Given the description of an element on the screen output the (x, y) to click on. 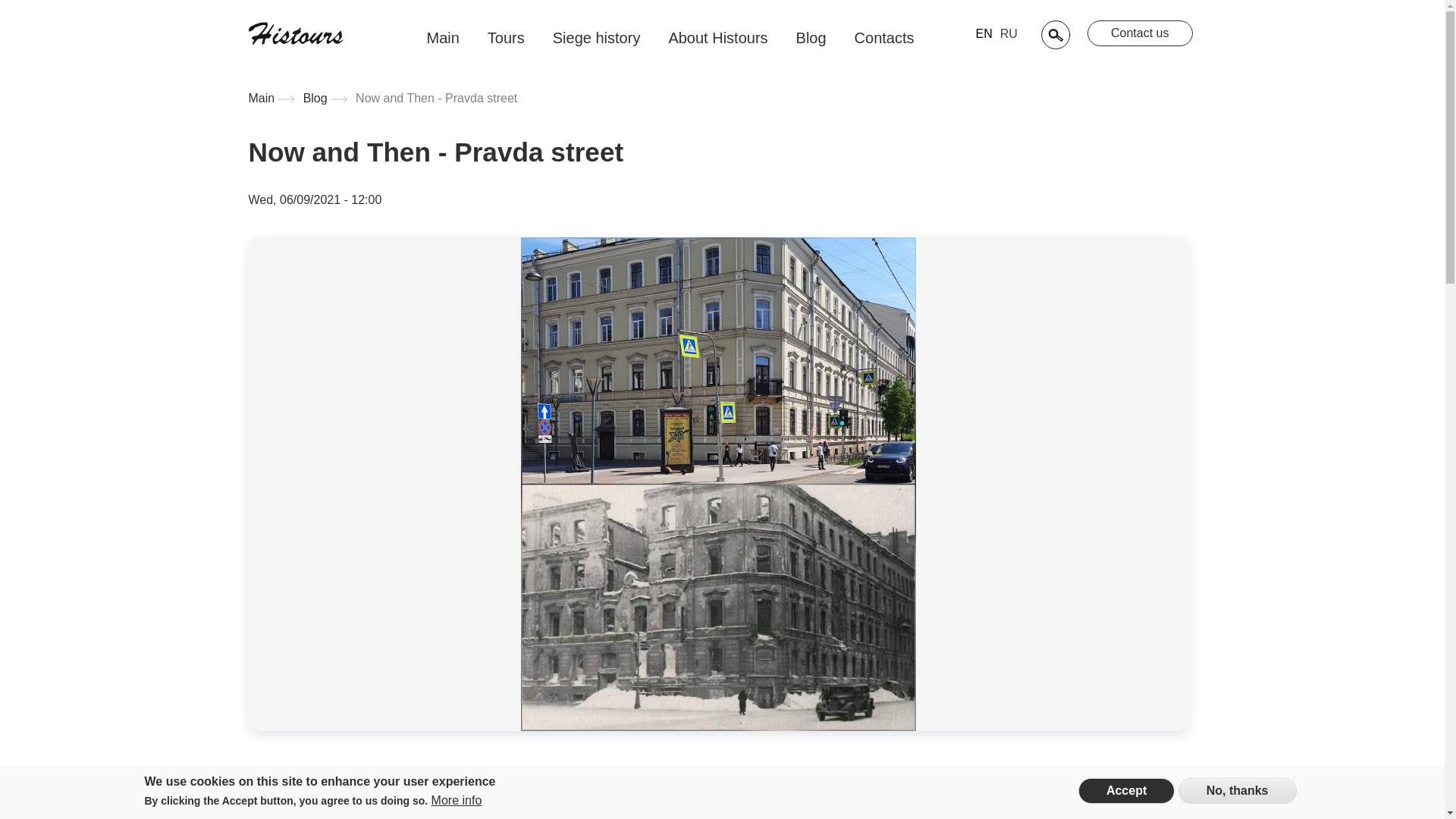
Search page (1055, 35)
Blog (811, 38)
Contacts (884, 38)
Tours (505, 38)
Blog (314, 98)
Siege history (596, 38)
Search page (1055, 35)
Contact us (1139, 32)
RU (1008, 33)
Contact us (1139, 32)
EN (983, 33)
About Histours (717, 38)
Main (261, 98)
Main (442, 38)
